Given the description of an element on the screen output the (x, y) to click on. 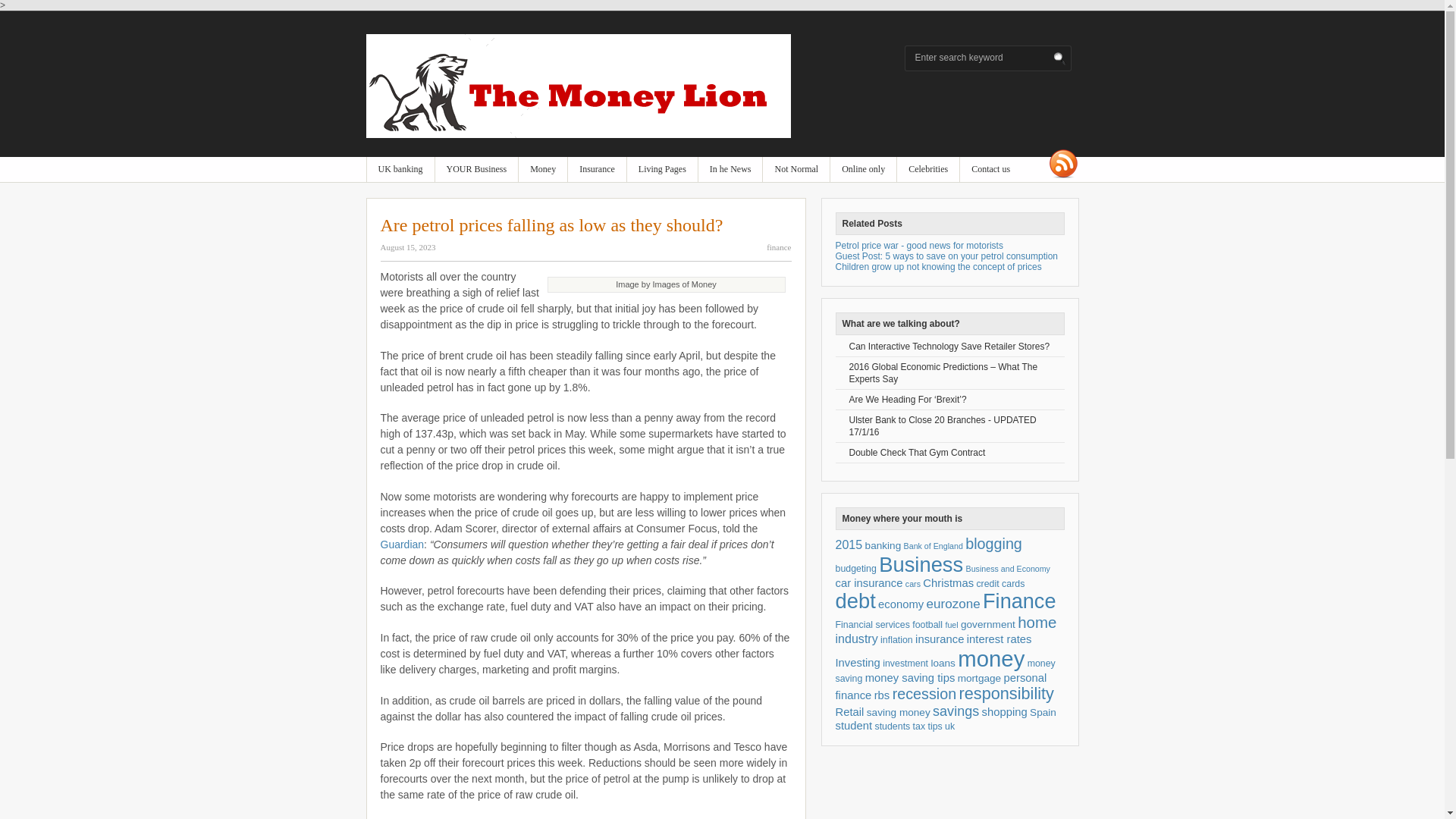
finance (542, 169)
news (730, 169)
Go (1059, 58)
Guest Post: 5 ways to save on your petrol consumption (946, 255)
View all posts in finance (778, 246)
Online only (862, 169)
Insurance (596, 169)
Can Interactive Technology Save Retailer Stores? (948, 346)
Guardian (402, 544)
Celebrities (927, 169)
